Given the description of an element on the screen output the (x, y) to click on. 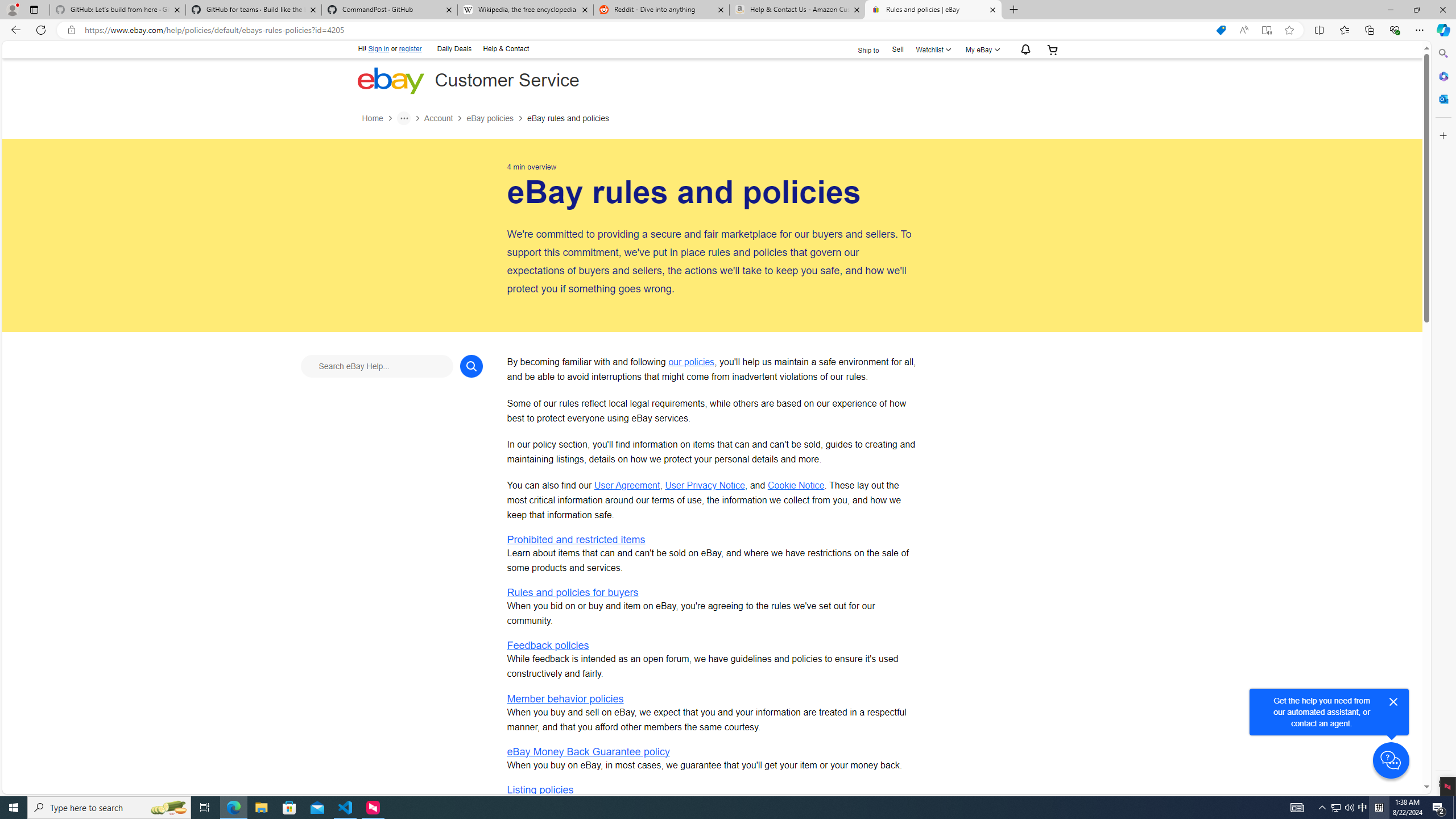
Help & Contact (505, 49)
Account (437, 117)
Member behavior policies (565, 698)
Ship to (860, 48)
Rules and policies | eBay (933, 9)
